Given the description of an element on the screen output the (x, y) to click on. 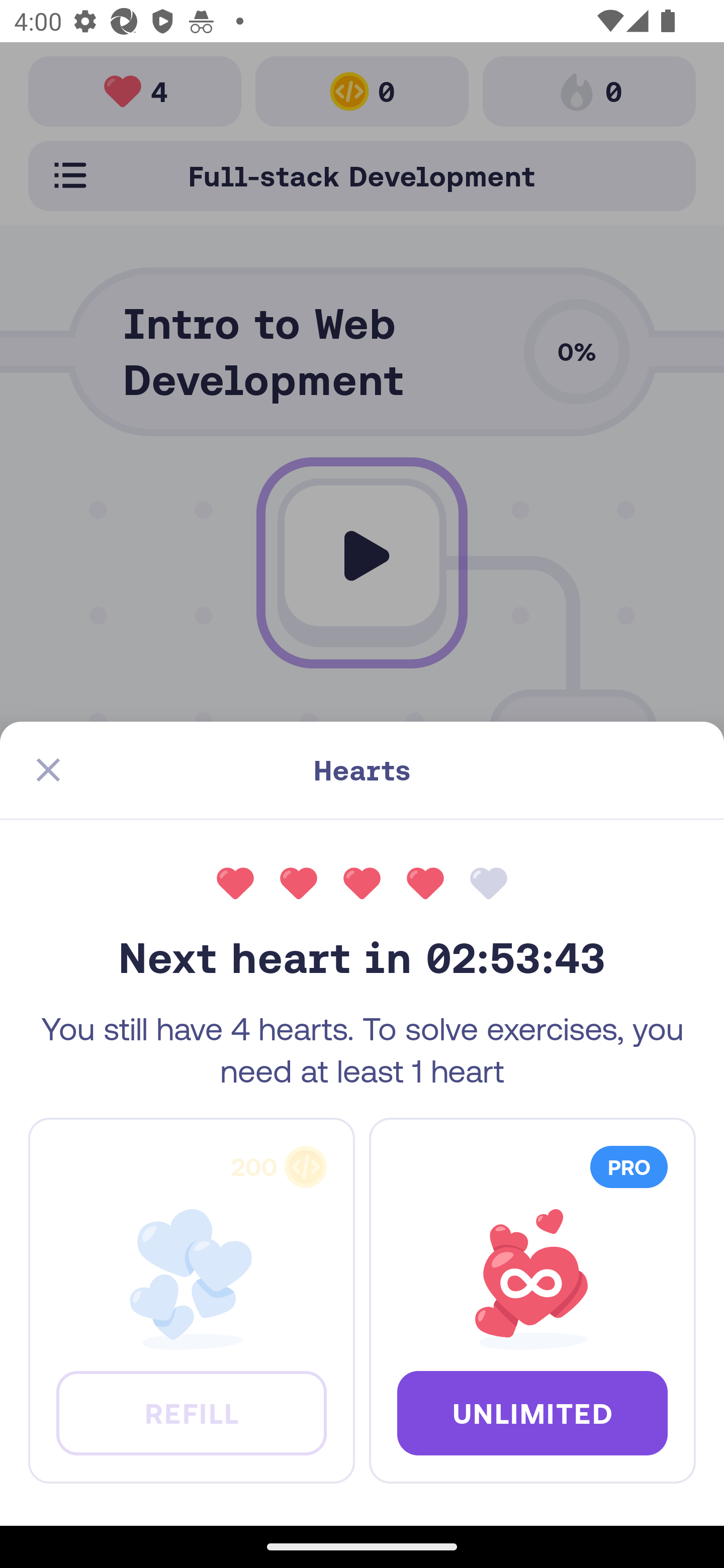
Close (47, 769)
REFILL (191, 1412)
UNLIMITED (532, 1412)
